Given the description of an element on the screen output the (x, y) to click on. 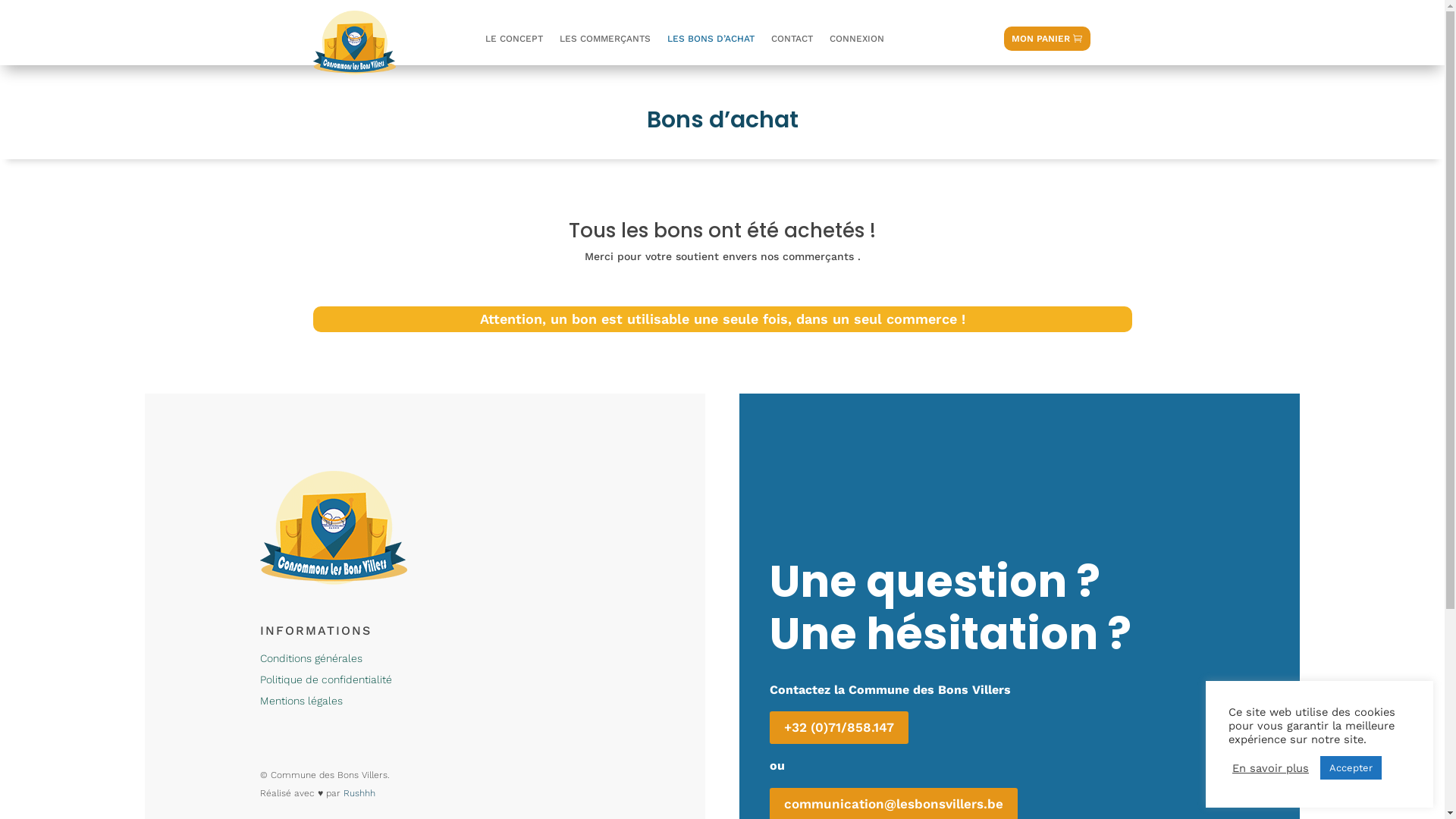
LE CONCEPT Element type: text (513, 41)
Accepter Element type: text (1350, 767)
CONNEXION Element type: text (856, 41)
Rushhh Element type: text (359, 792)
CONSOMMONS-LES-BONS-VILLERS Element type: hover (333, 527)
CONSOMMONS-LES-BONS-VILLERS Element type: hover (353, 42)
+32 (0)71/858.147 Element type: text (838, 727)
CONTACT Element type: text (791, 41)
En savoir plus Element type: text (1270, 768)
MON PANIER Element type: text (1047, 38)
